Given the description of an element on the screen output the (x, y) to click on. 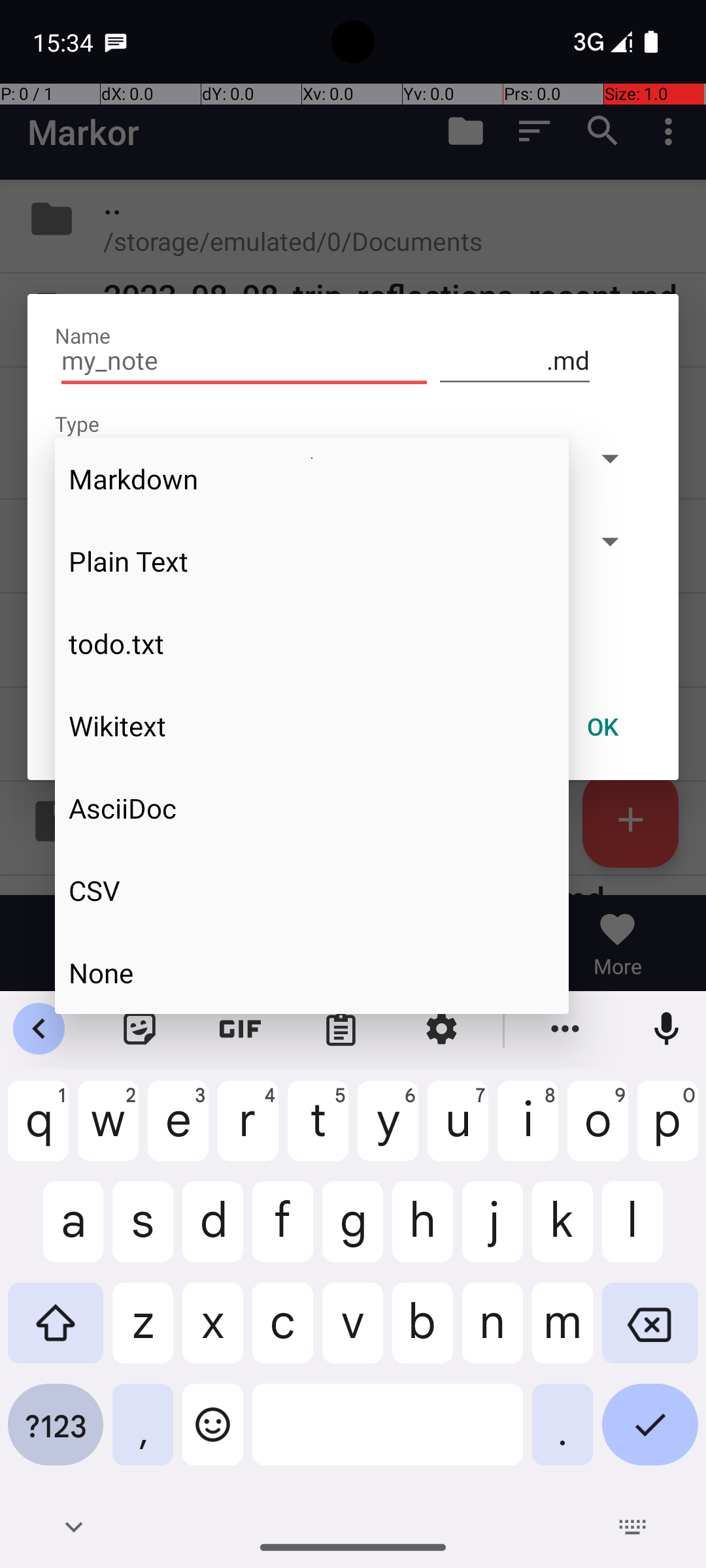
AsciiDoc Element type: android.widget.TextView (311, 808)
CSV Element type: android.widget.TextView (311, 890)
None Element type: android.widget.TextView (311, 972)
